Given the description of an element on the screen output the (x, y) to click on. 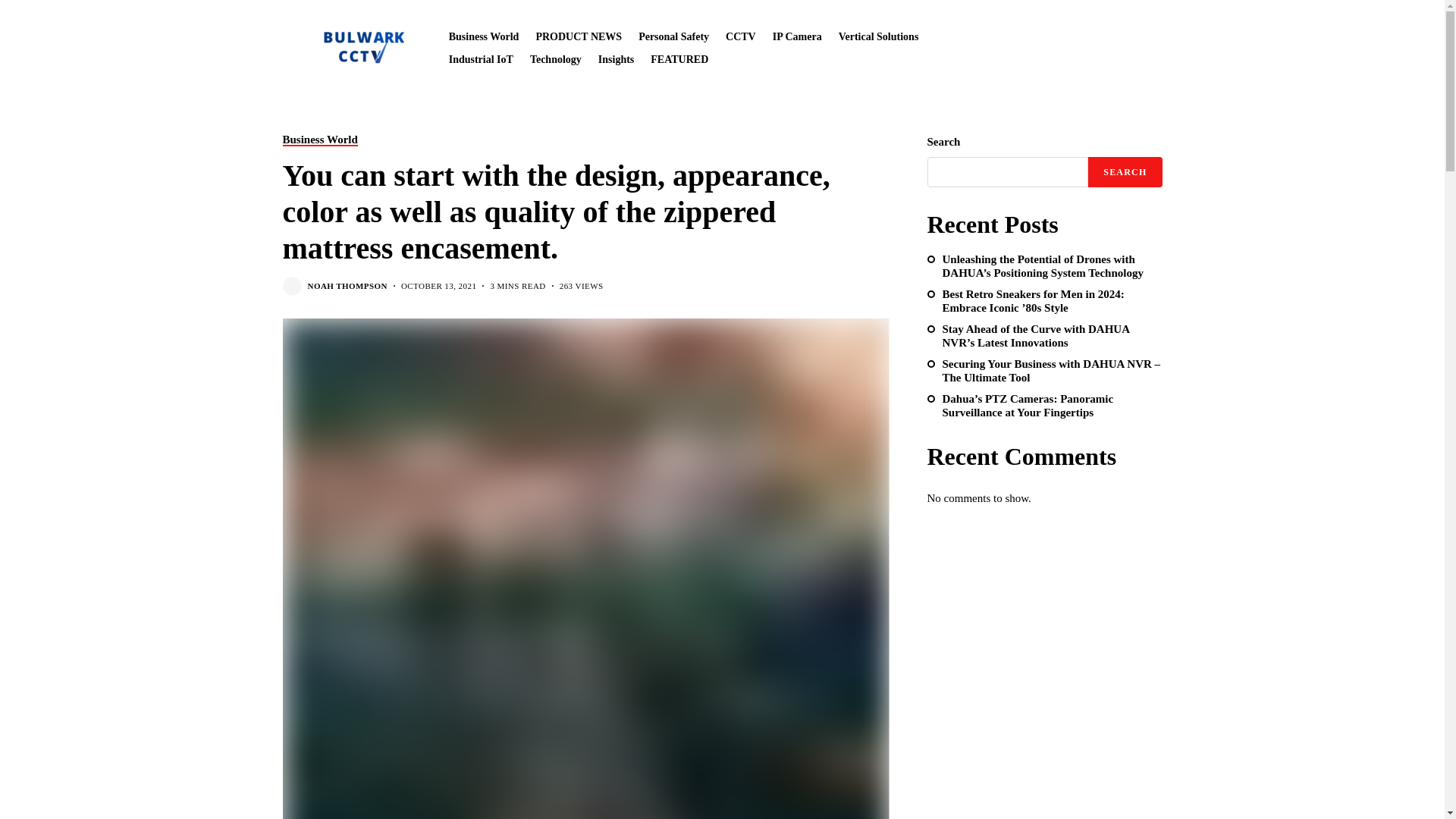
Technology (554, 58)
IP Camera (797, 36)
FEATURED (678, 58)
PRODUCT NEWS (578, 36)
Insights (615, 58)
Business World (483, 36)
Industrial IoT (480, 58)
CCTV (740, 36)
Posts by Noah Thompson (347, 286)
Vertical Solutions (878, 36)
Personal Safety (674, 36)
